Given the description of an element on the screen output the (x, y) to click on. 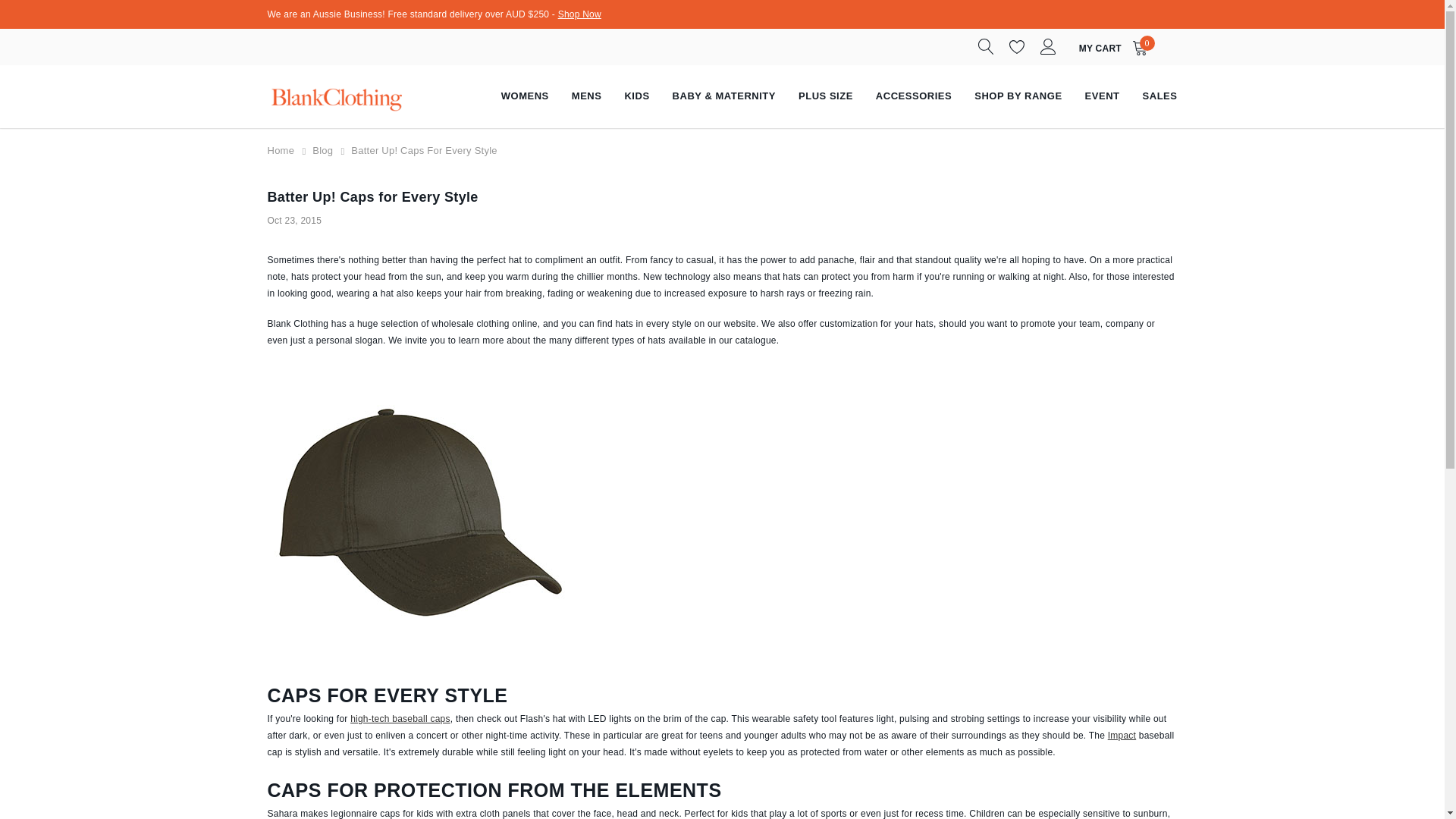
Blank Clothing (333, 95)
WOMENS (524, 96)
Yakka Oilskin Baseball Cap (418, 513)
Plain Baseball Cap (1121, 735)
Shop Now (579, 14)
Shop Now (579, 14)
High-Tech Baseball Caps (399, 718)
